Given the description of an element on the screen output the (x, y) to click on. 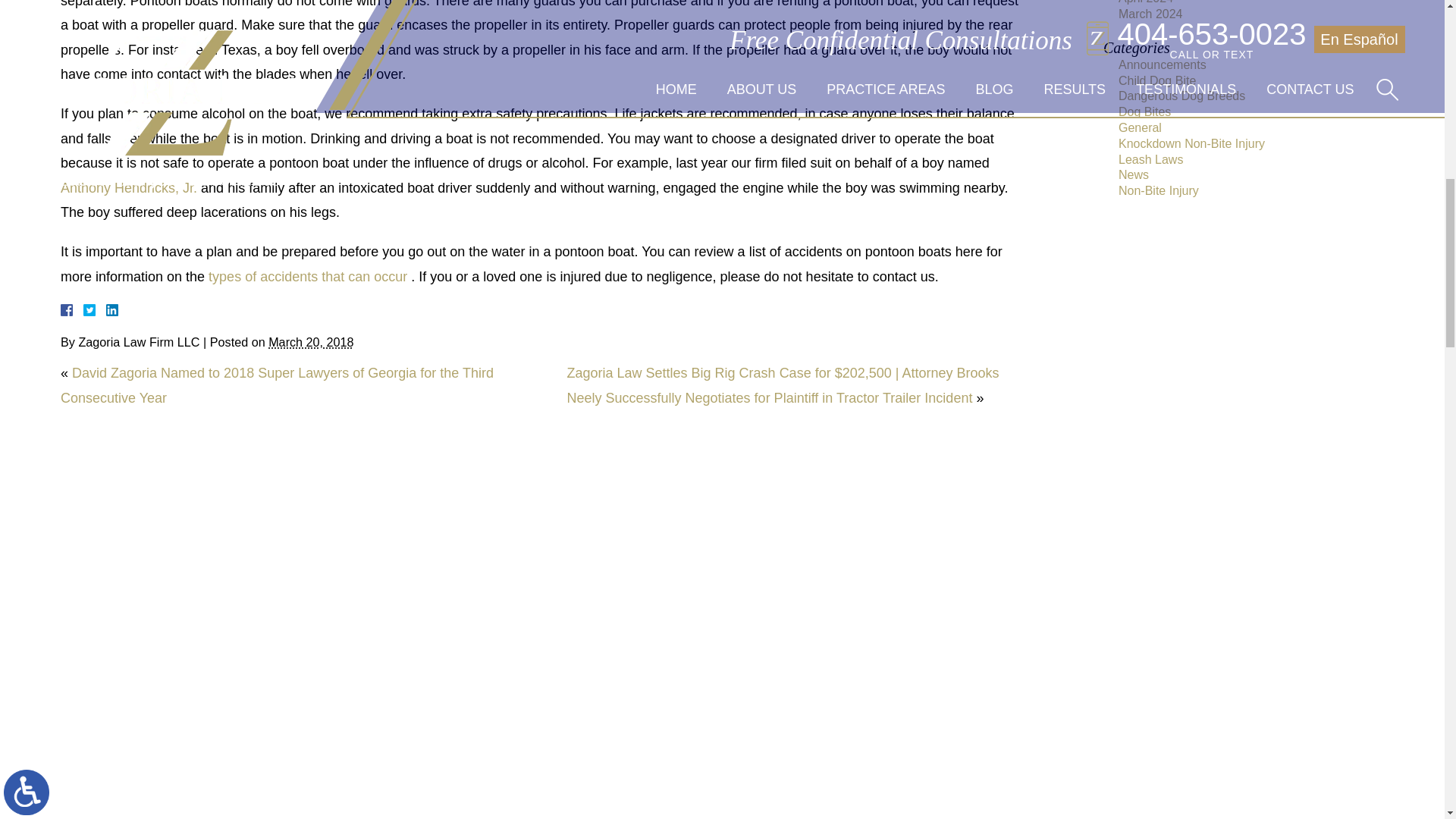
Twitter (95, 309)
2018-03-20T19:28:21-0700 (310, 341)
LinkedIn (106, 309)
Facebook (85, 309)
